Given the description of an element on the screen output the (x, y) to click on. 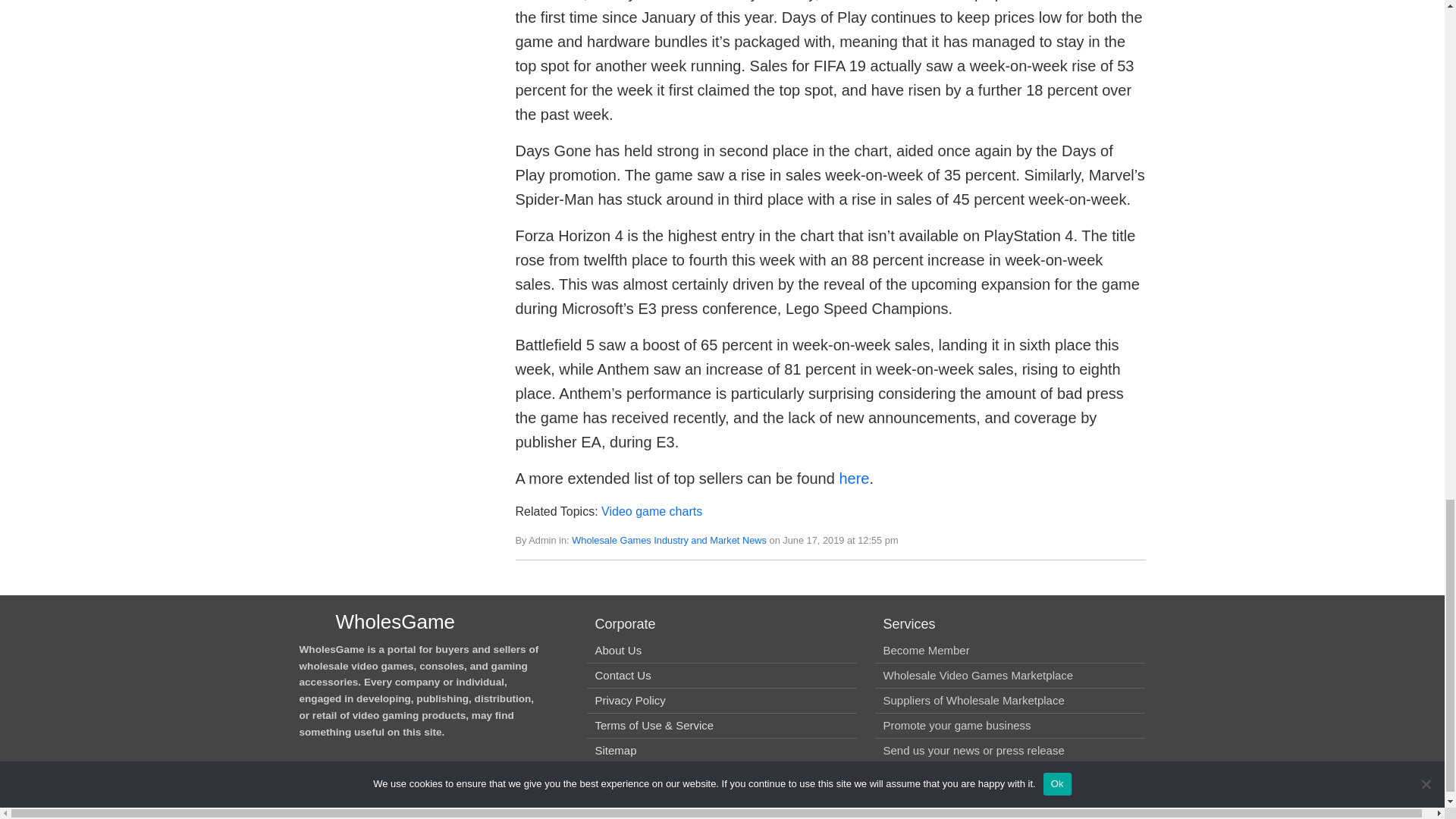
About Us (618, 649)
